Given the description of an element on the screen output the (x, y) to click on. 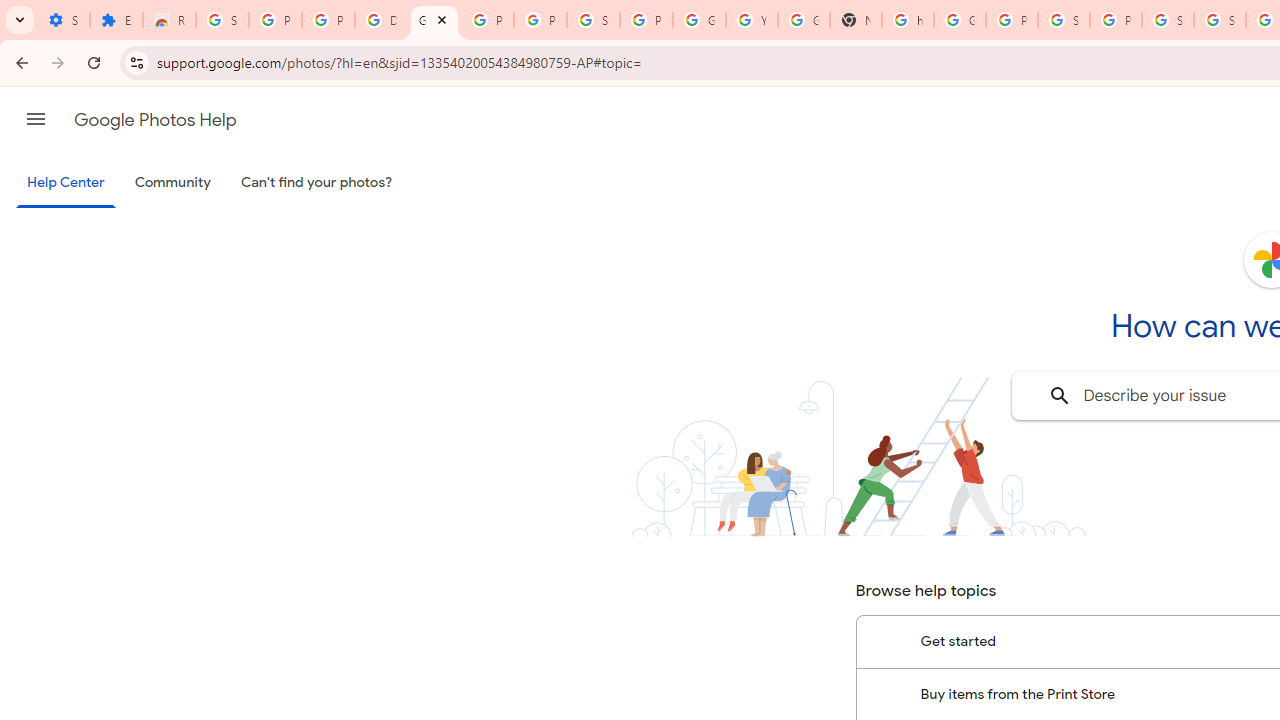
Sign in - Google Accounts (593, 20)
Sign in - Google Accounts (1064, 20)
Help Center (65, 183)
Google Photos Help (434, 20)
YouTube (751, 20)
Google Photos Help (155, 119)
Search (1059, 395)
Community (171, 183)
Sign in - Google Accounts (222, 20)
